Given the description of an element on the screen output the (x, y) to click on. 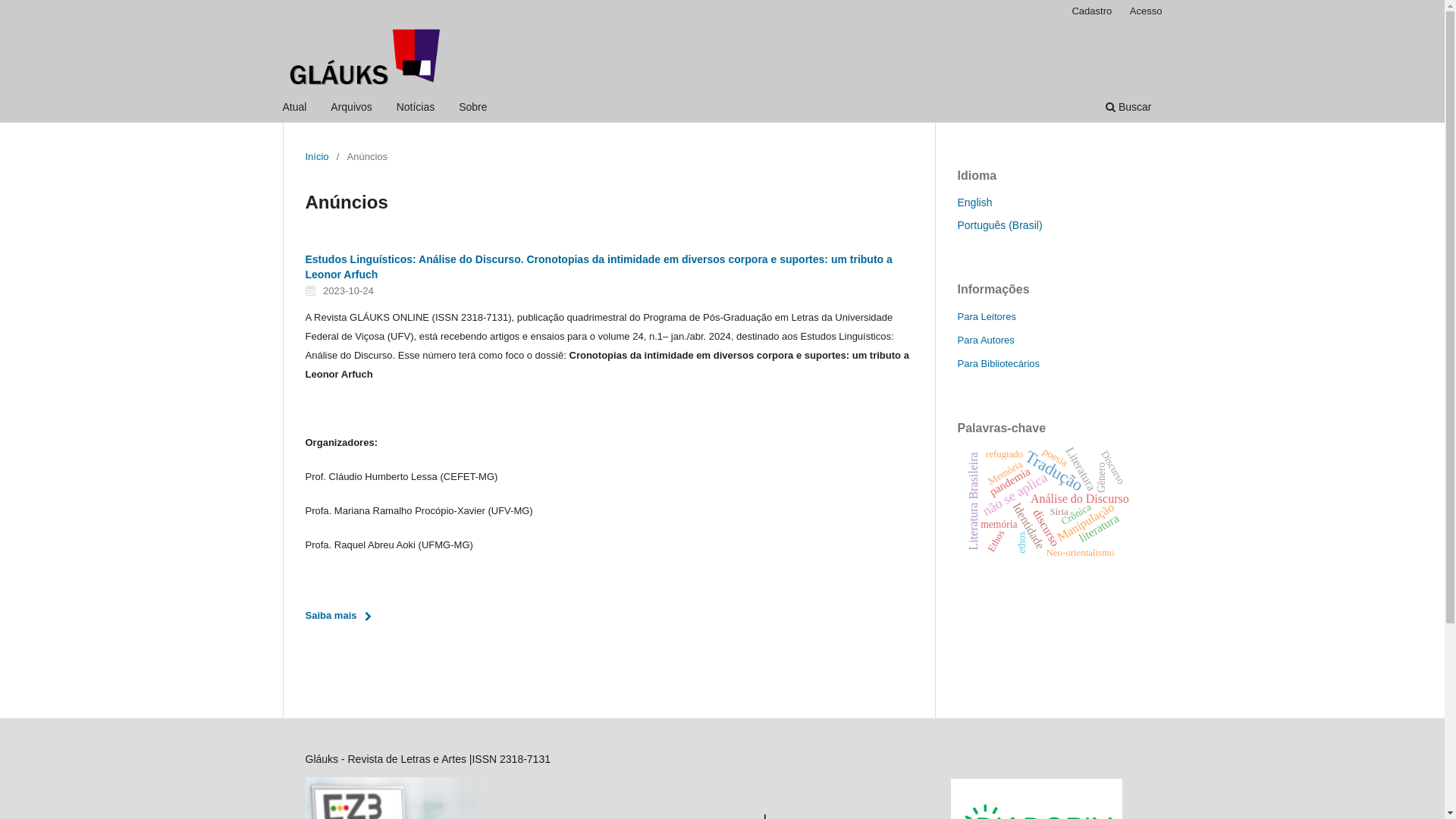
Para Autores Element type: text (985, 339)
Sobre Element type: text (472, 108)
Saiba mais Element type: text (341, 615)
Atual Element type: text (294, 108)
Acesso Element type: text (1146, 11)
Buscar Element type: text (1128, 108)
Para Leitores Element type: text (986, 316)
Arquivos Element type: text (350, 108)
Cadastro Element type: text (1091, 11)
English Element type: text (974, 202)
